Given the description of an element on the screen output the (x, y) to click on. 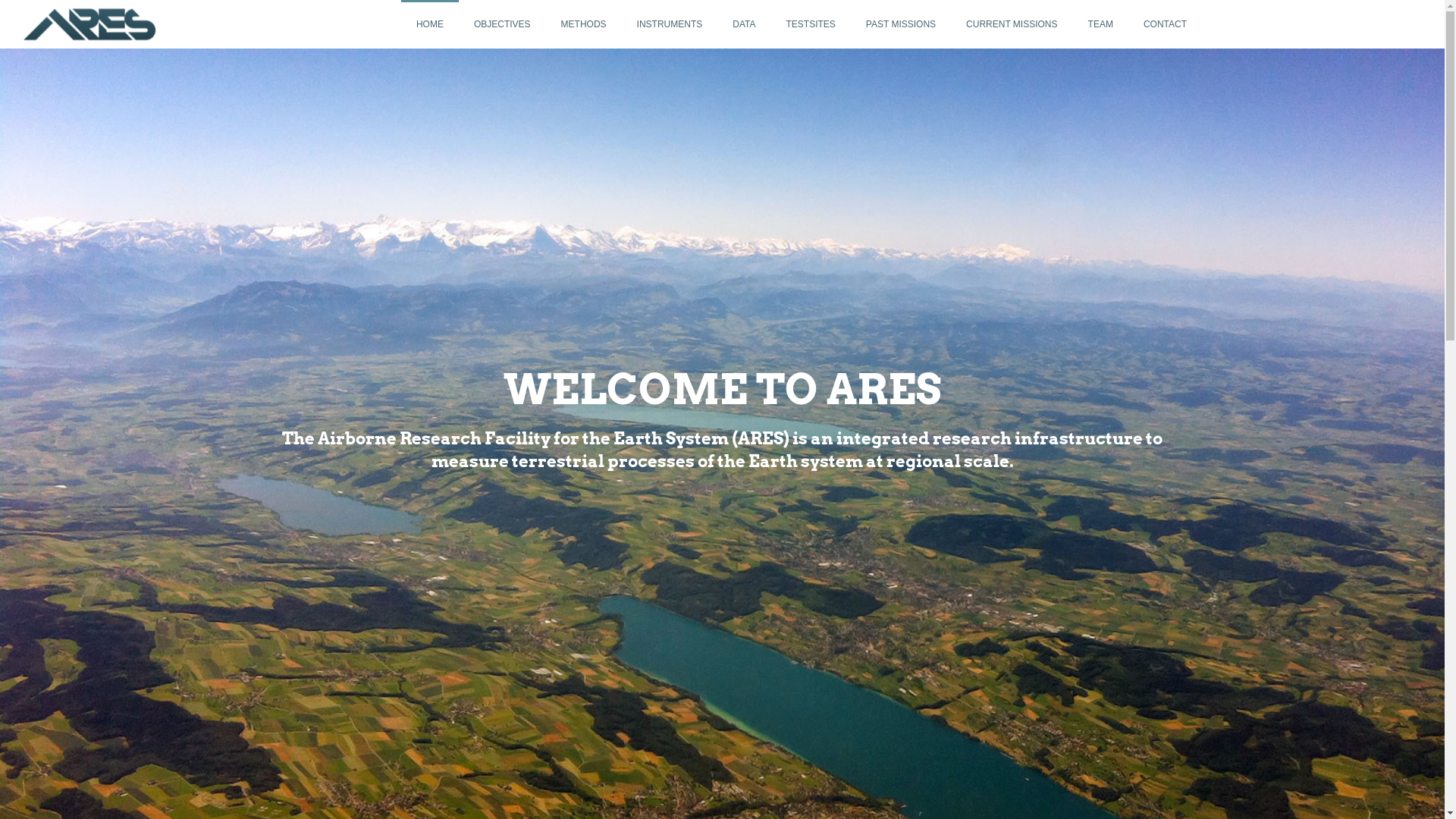
METHODS Element type: text (583, 24)
INSTRUMENTS Element type: text (669, 24)
TEAM Element type: text (1100, 24)
OBJECTIVES Element type: text (502, 24)
CONTACT Element type: text (1164, 24)
PAST MISSIONS Element type: text (900, 24)
HOME Element type: text (429, 24)
CURRENT MISSIONS Element type: text (1011, 24)
TESTSITES Element type: text (810, 24)
DATA Element type: text (743, 24)
